Given the description of an element on the screen output the (x, y) to click on. 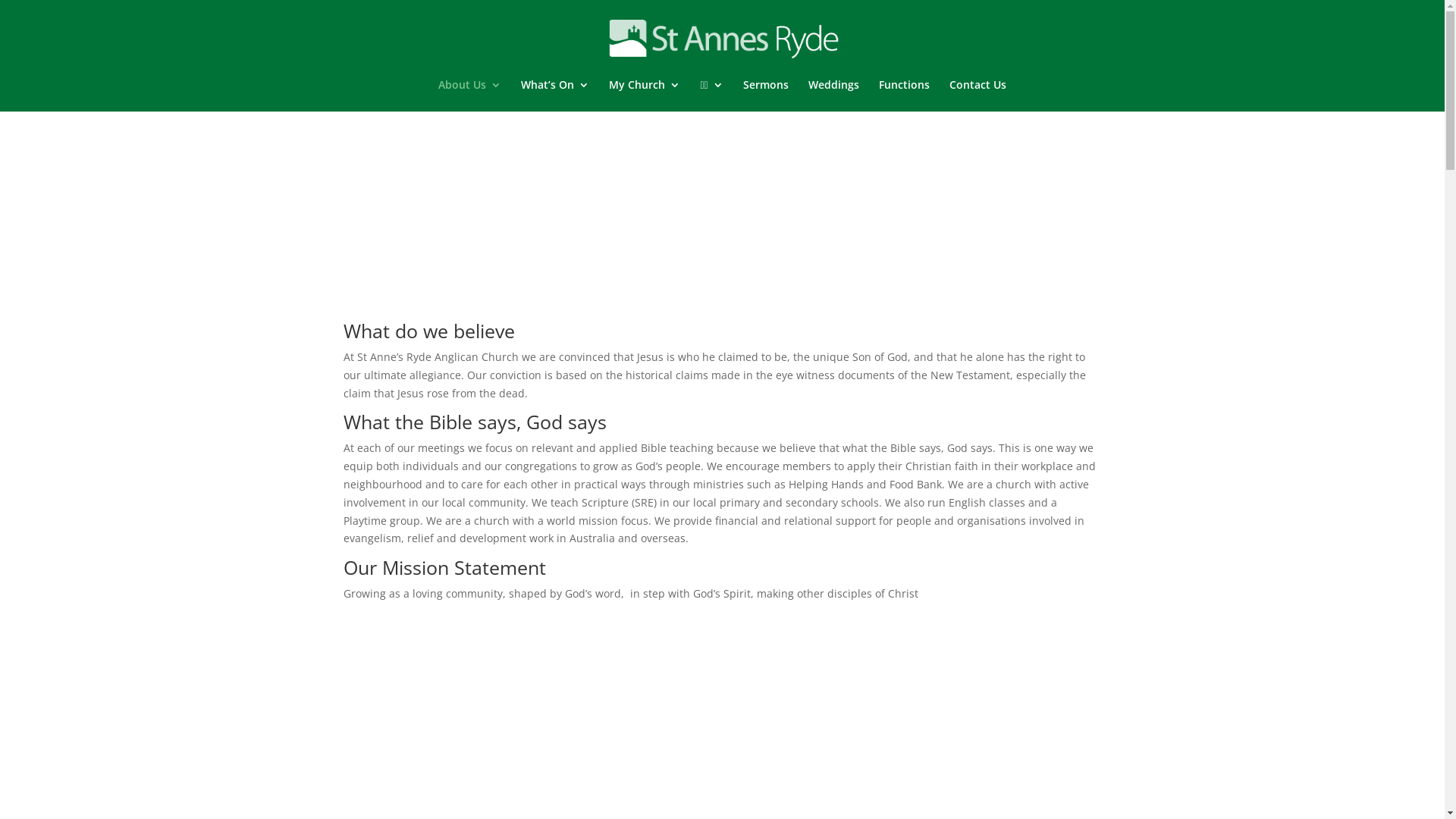
Sermons Element type: text (765, 95)
My Church Element type: text (644, 95)
Weddings Element type: text (833, 95)
Contact Us Element type: text (977, 95)
Functions Element type: text (903, 95)
About Us Element type: text (469, 95)
